Given the description of an element on the screen output the (x, y) to click on. 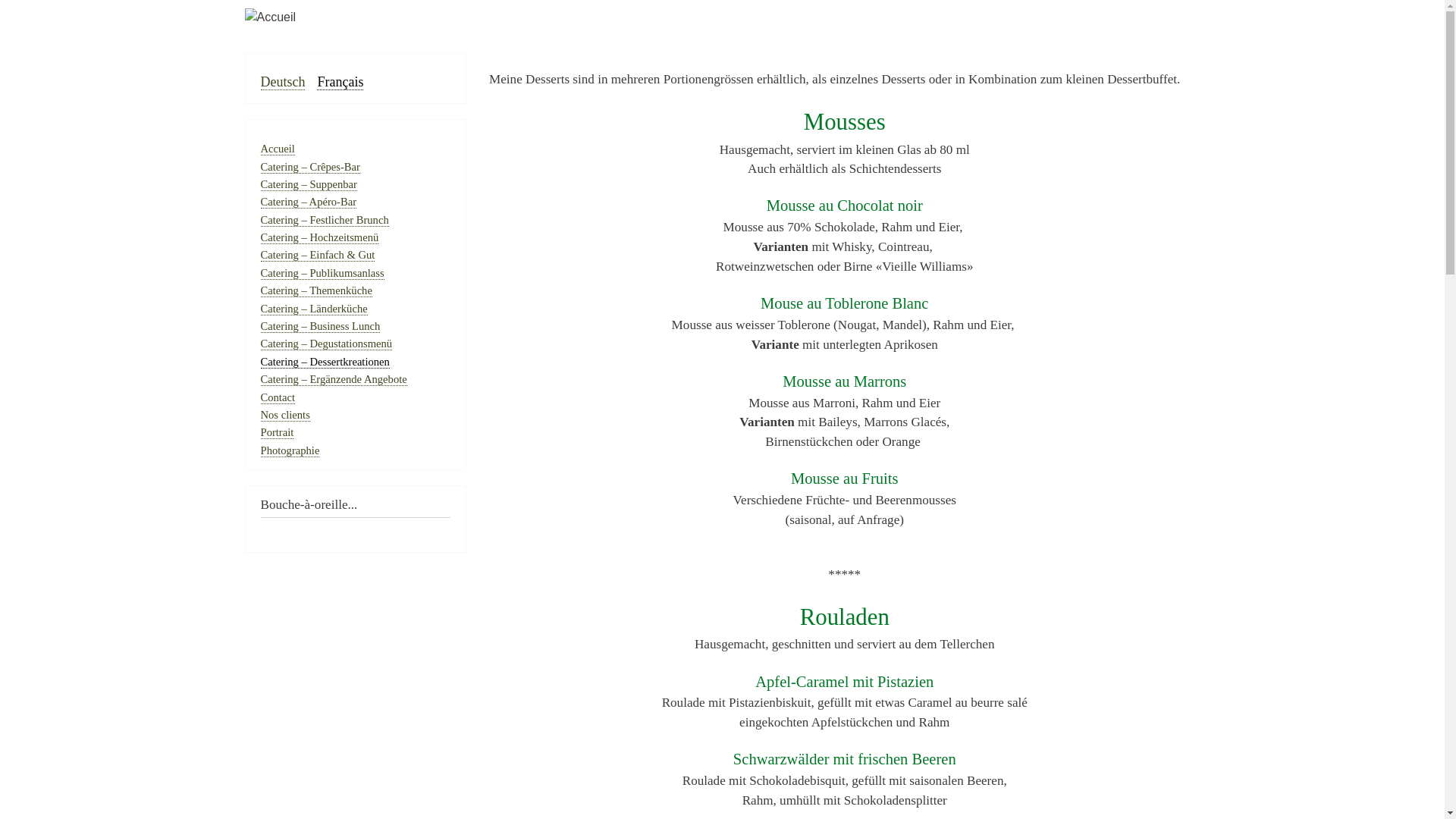
Deutsch Element type: text (282, 82)
Photographie Element type: text (290, 450)
Aller au contenu principal Element type: text (722, 1)
Accueil Element type: text (277, 148)
Portrait Element type: text (277, 432)
Nos clients Element type: text (285, 414)
Contact Element type: text (277, 397)
Accueil Element type: hover (721, 17)
